Given the description of an element on the screen output the (x, y) to click on. 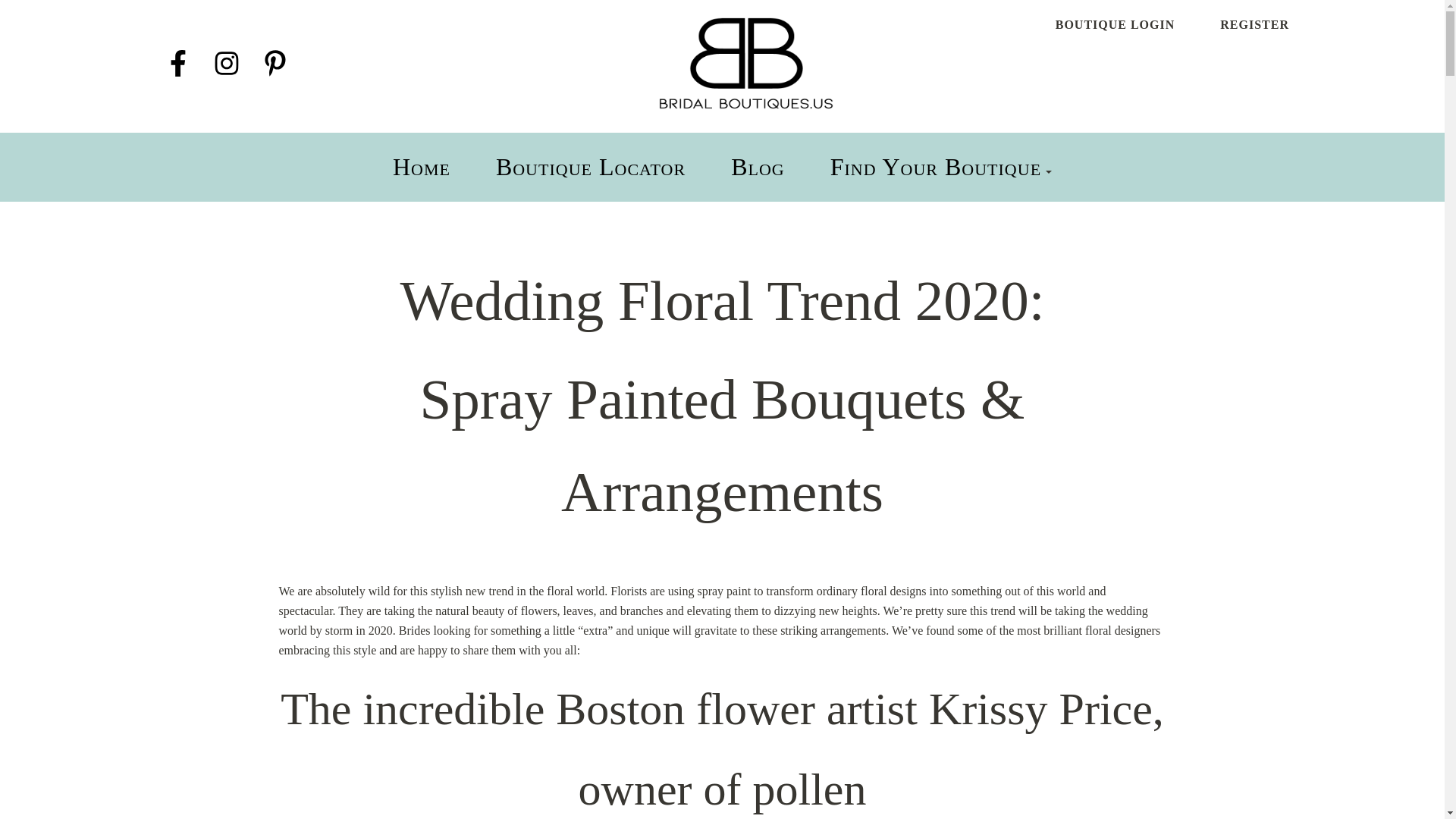
Krissy Price (1040, 708)
Home (421, 166)
Boutique Locator (590, 166)
pollen (809, 789)
BOUTIQUE LOGIN (1114, 24)
Blog (757, 166)
Find Your Boutique (935, 166)
REGISTER (1254, 24)
